Given the description of an element on the screen output the (x, y) to click on. 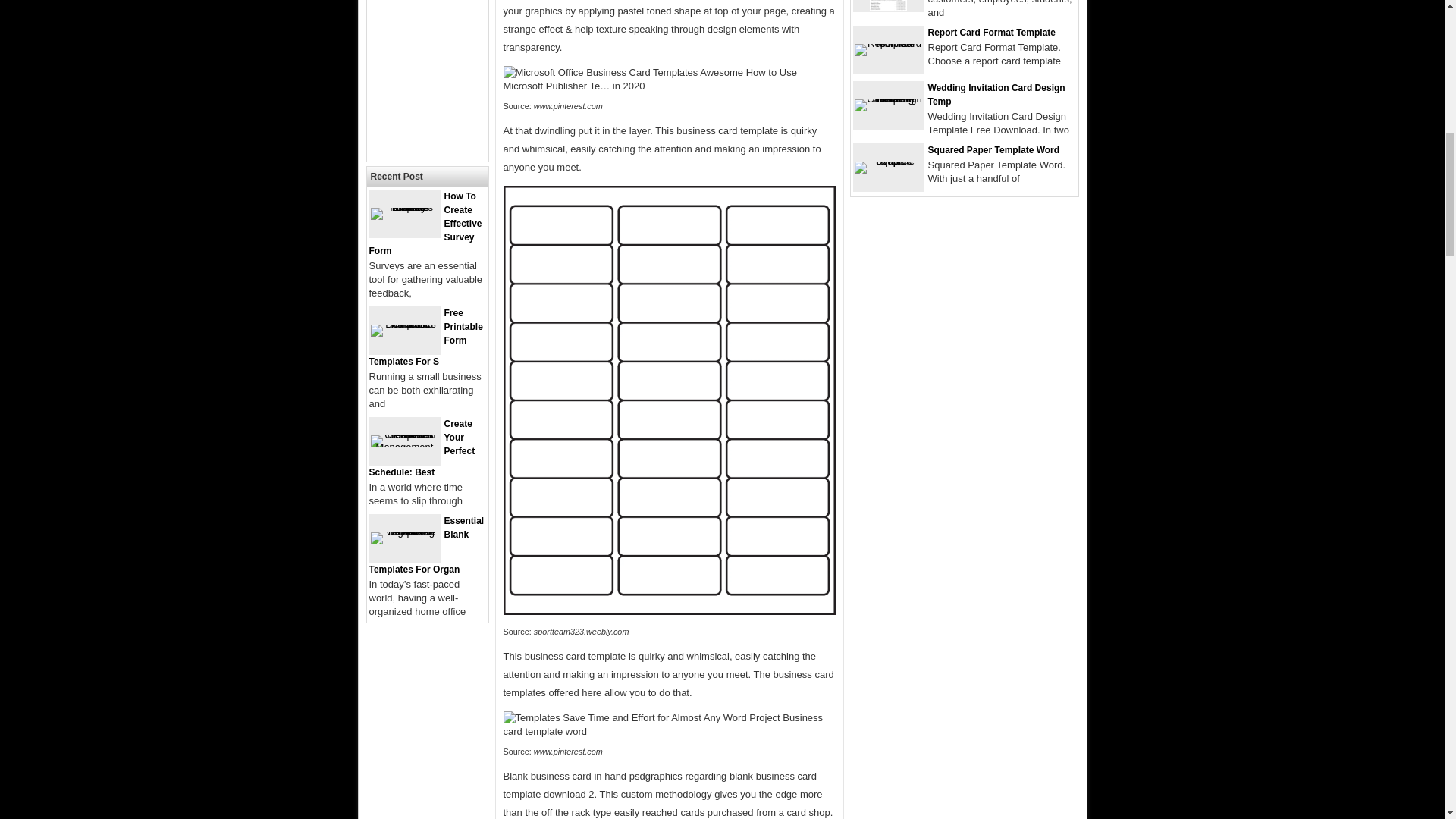
How To Create Effective Survey Form (424, 223)
Free Printable Form Templates For S (424, 336)
How to Create Effective Survey Form Templates (403, 206)
Create Your Perfect Schedule: Best (421, 447)
